Given the description of an element on the screen output the (x, y) to click on. 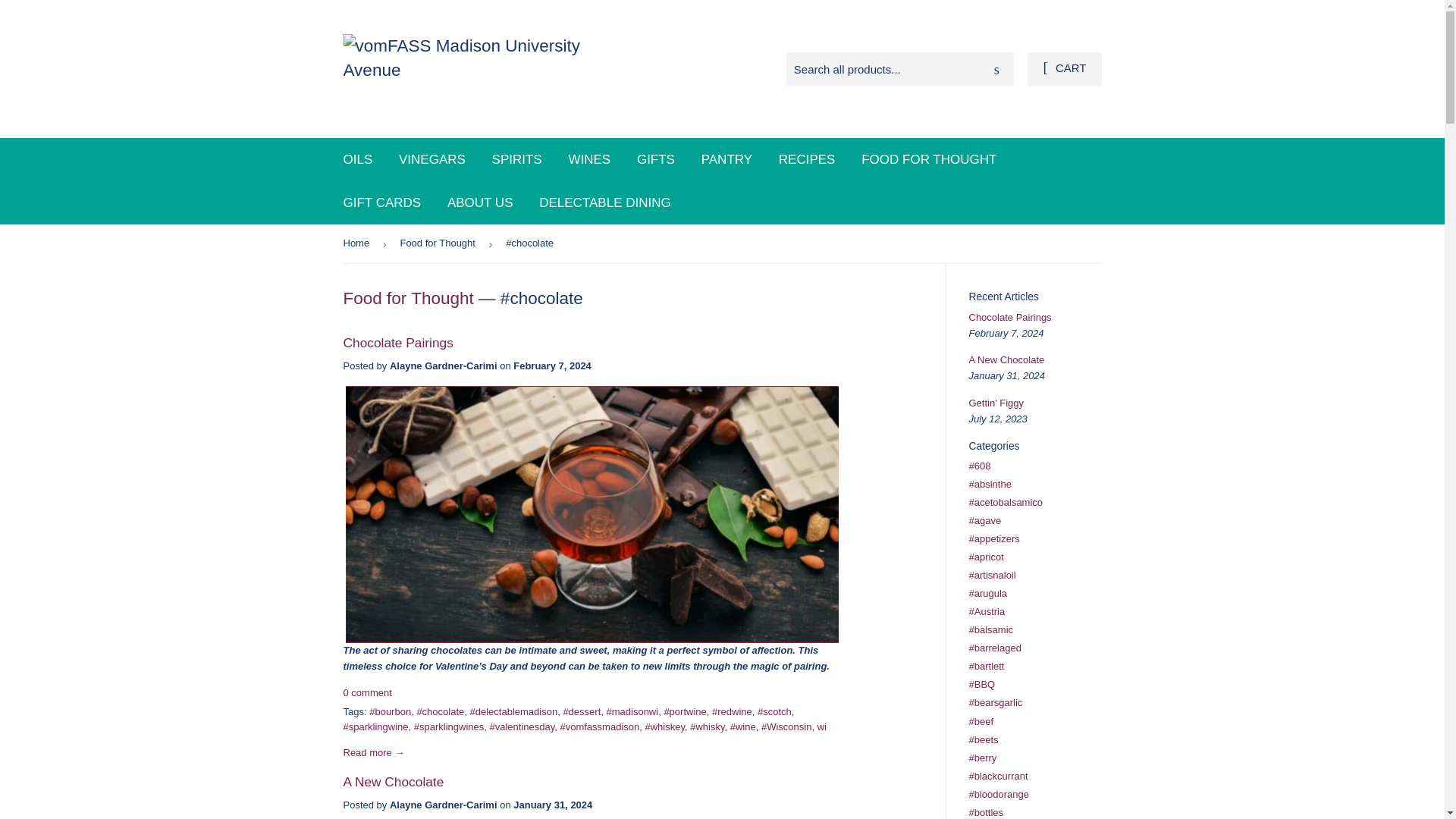
Chocolate Pairings (397, 342)
Search (996, 69)
RECIPES (807, 159)
PANTRY (726, 159)
OILS (357, 159)
CART (1063, 68)
DELECTABLE DINING (604, 202)
Food for Thought (407, 298)
0 comment (366, 692)
Food for Thought (439, 243)
